Given the description of an element on the screen output the (x, y) to click on. 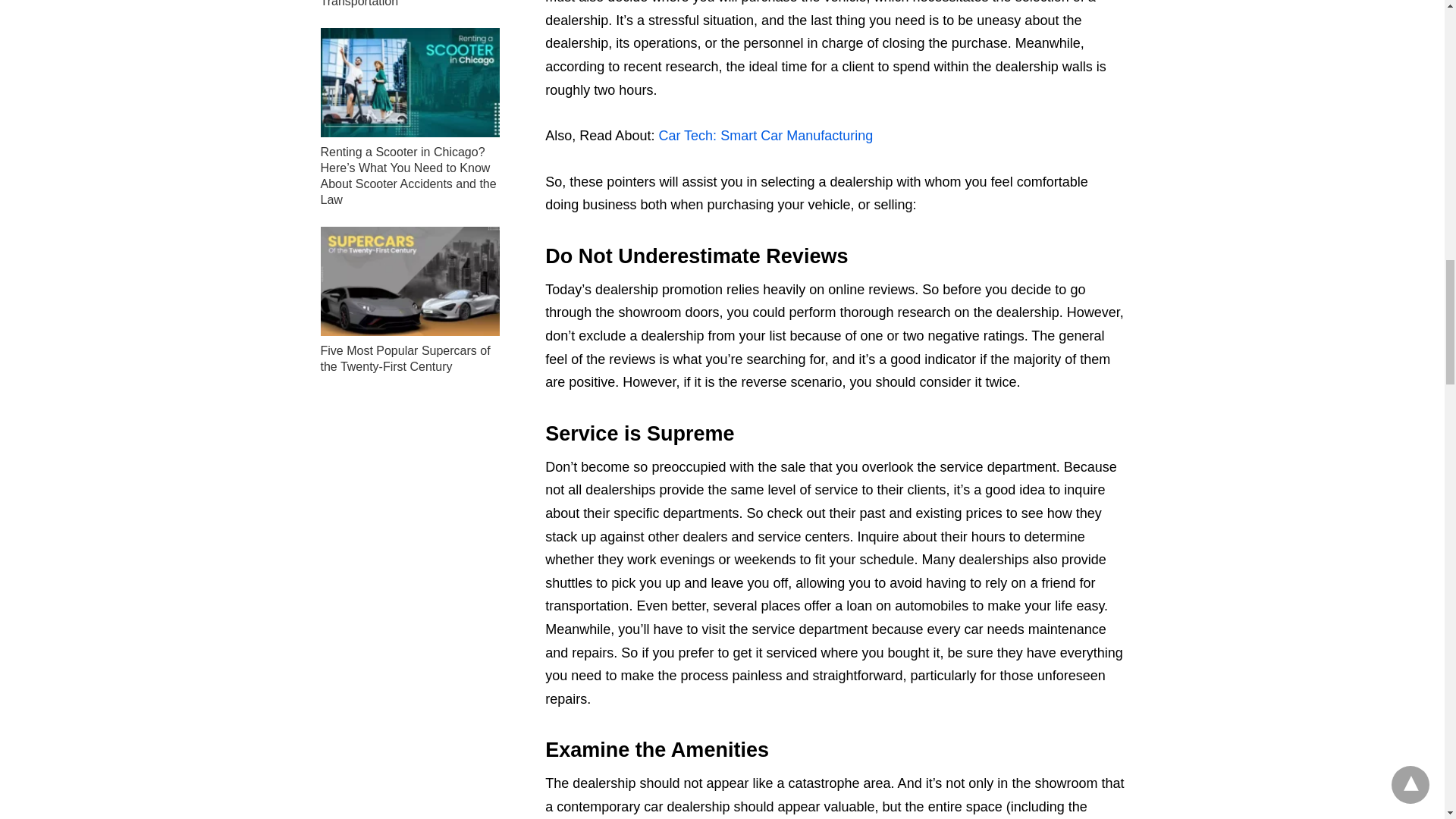
Car Tech: Smart Car Manufacturing (765, 135)
Five Most Popular Supercars of the Twenty-First Century (404, 358)
Five Most Popular Supercars of the Twenty-First Century (404, 358)
Five Most Popular Supercars of the Twenty-First Century (409, 280)
